Given the description of an element on the screen output the (x, y) to click on. 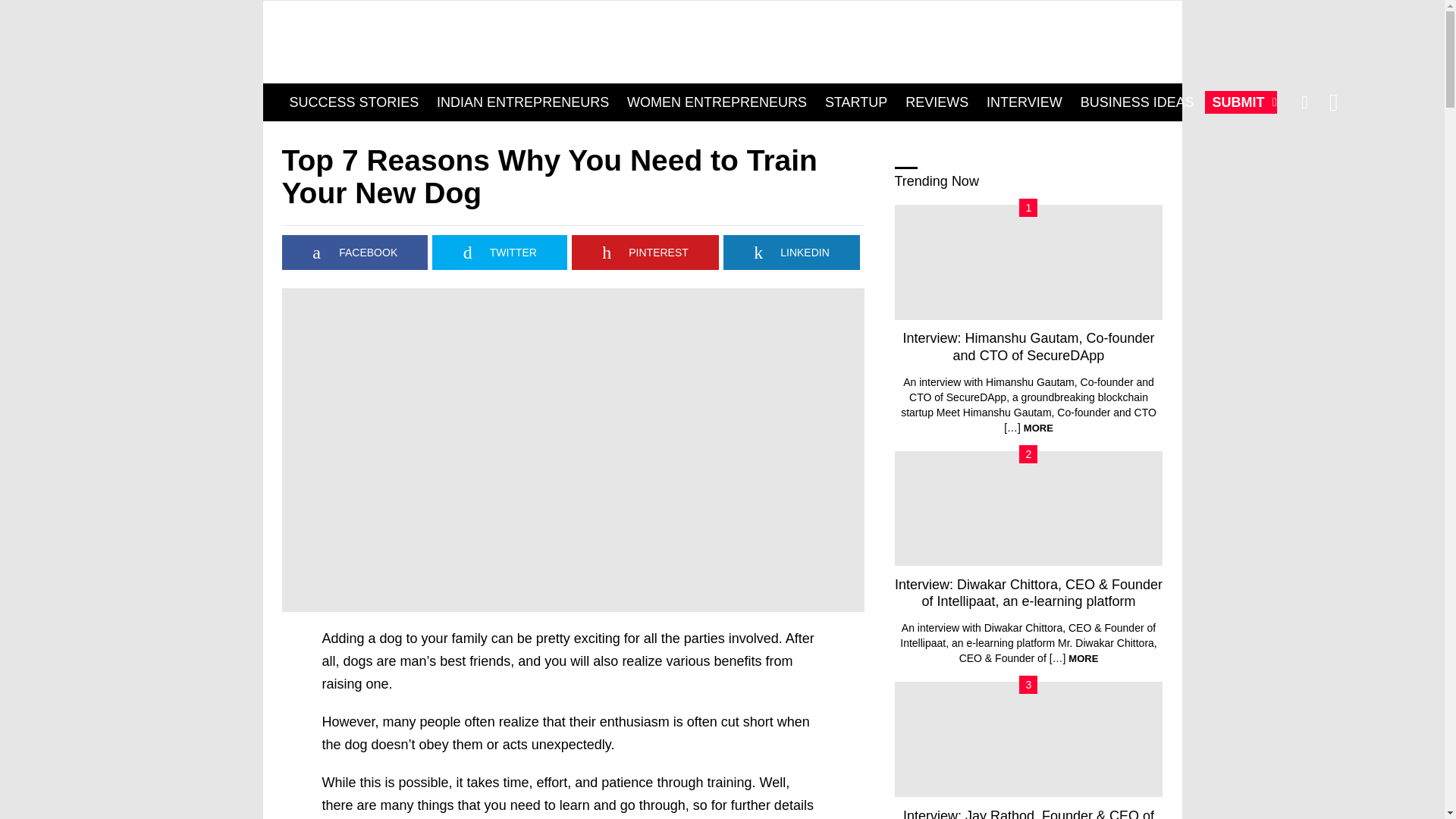
STARTUP (855, 101)
TWITTER (499, 252)
SUCCESS STORIES (354, 101)
WOMEN ENTREPRENEURS (716, 101)
INDIAN ENTREPRENEURS (522, 101)
REVIEWS (936, 101)
LINKEDIN (791, 252)
INTERVIEW (1024, 101)
FACEBOOK (355, 252)
PINTEREST (645, 252)
BUSINESS IDEAS (1137, 101)
SUBMIT (1240, 101)
